Given the description of an element on the screen output the (x, y) to click on. 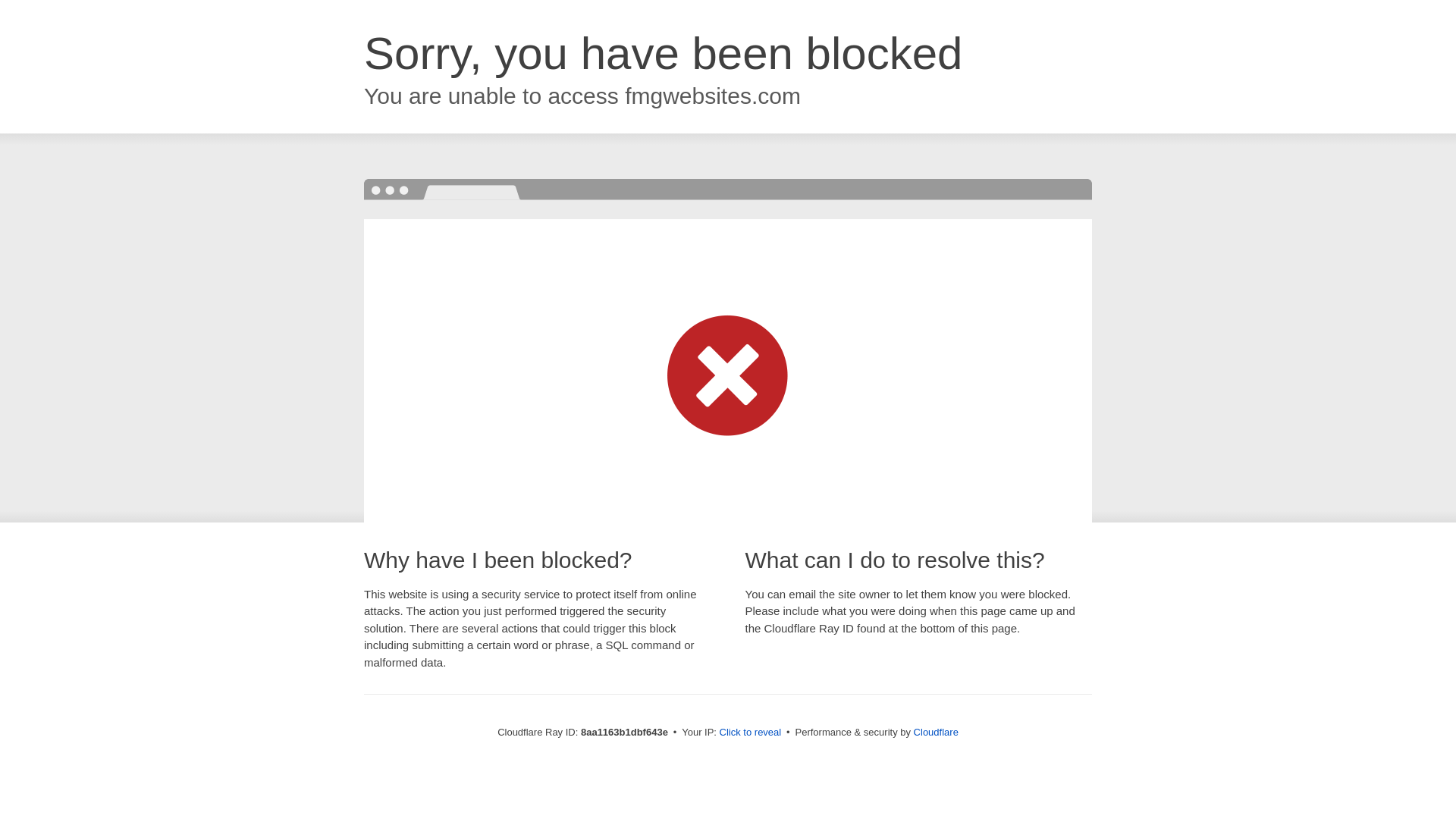
Cloudflare (936, 731)
Click to reveal (750, 732)
